Given the description of an element on the screen output the (x, y) to click on. 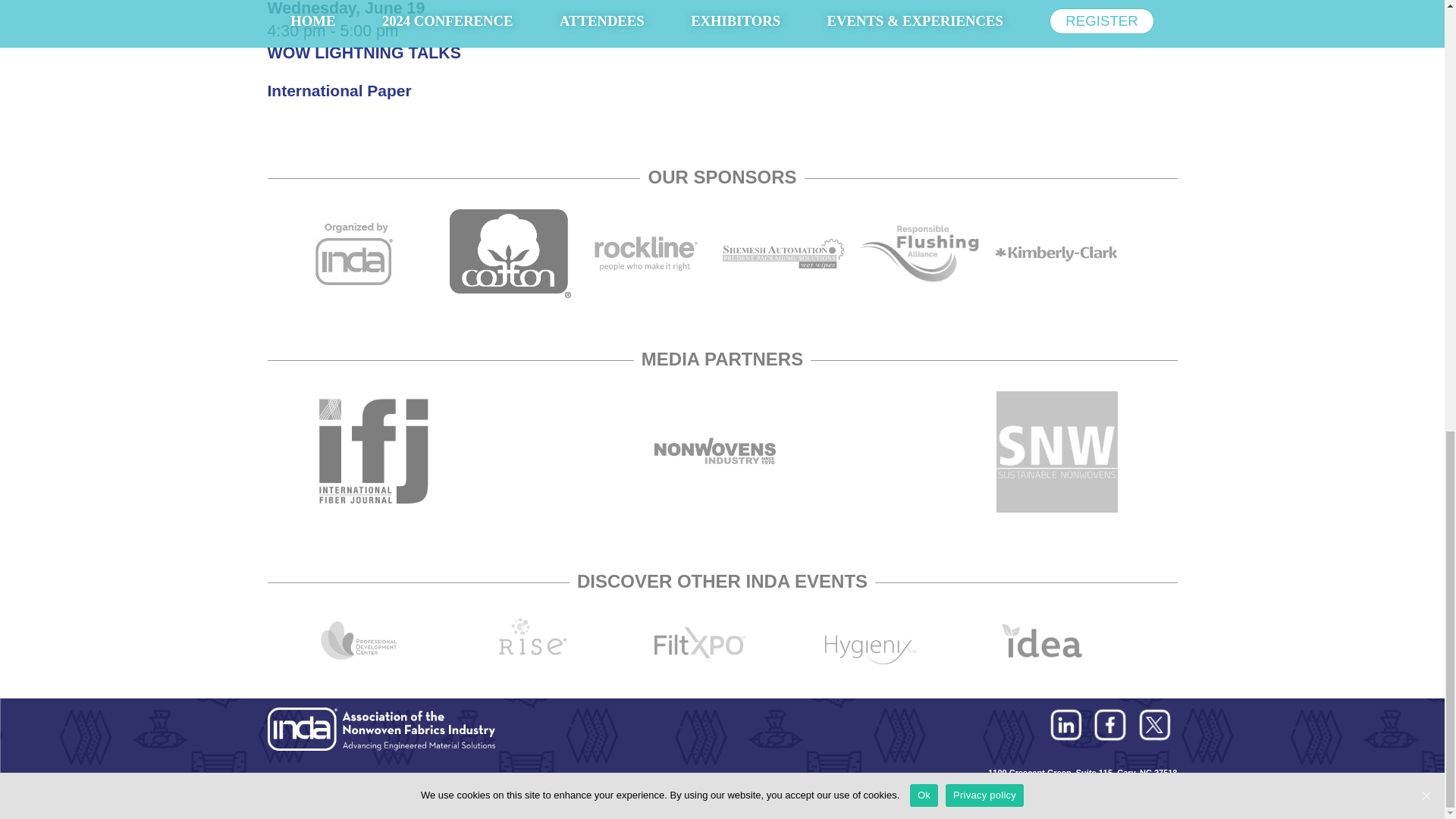
PRIVACY POLICY (393, 784)
